Given the description of an element on the screen output the (x, y) to click on. 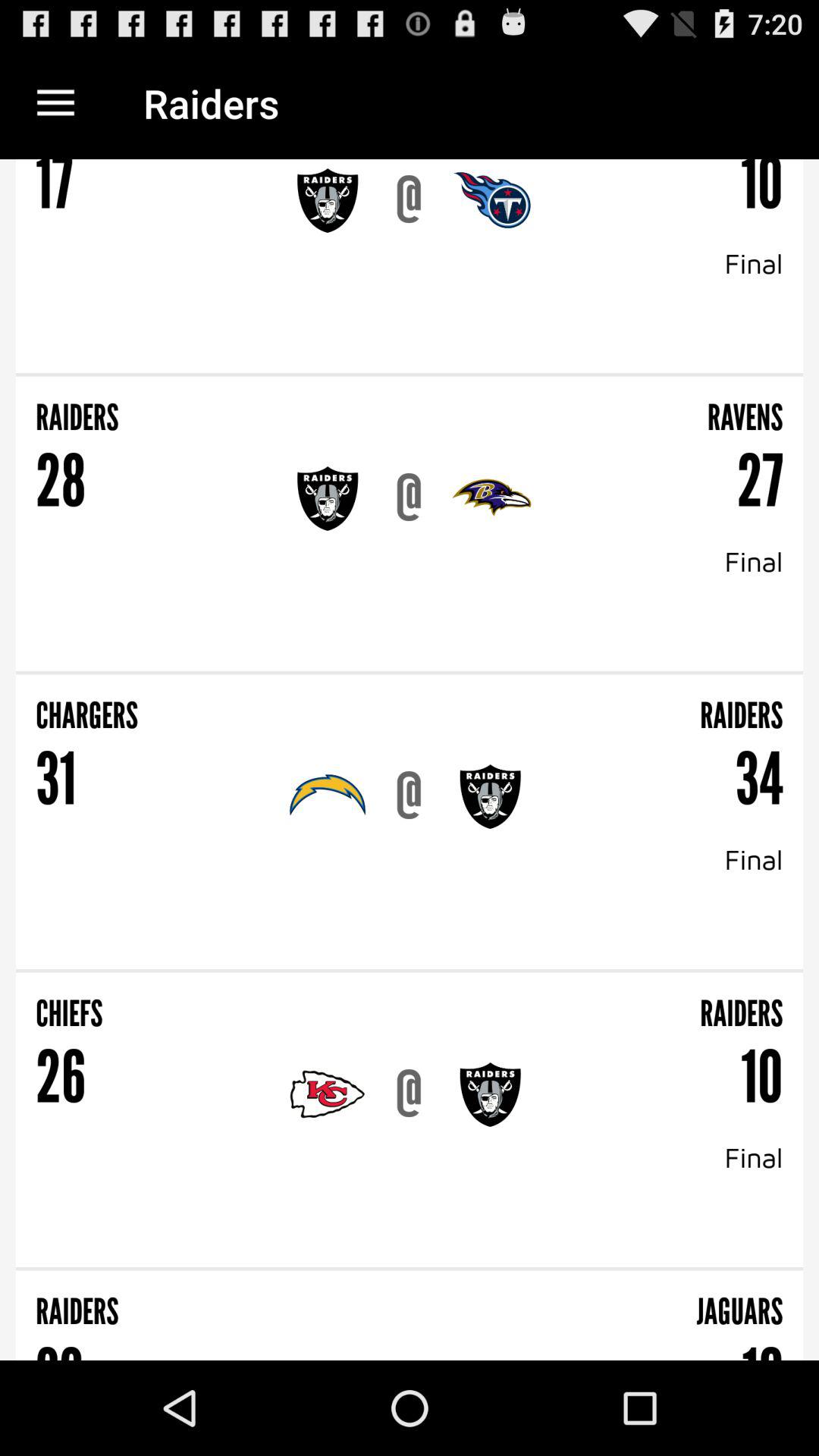
press item above the raiders item (409, 375)
